Given the description of an element on the screen output the (x, y) to click on. 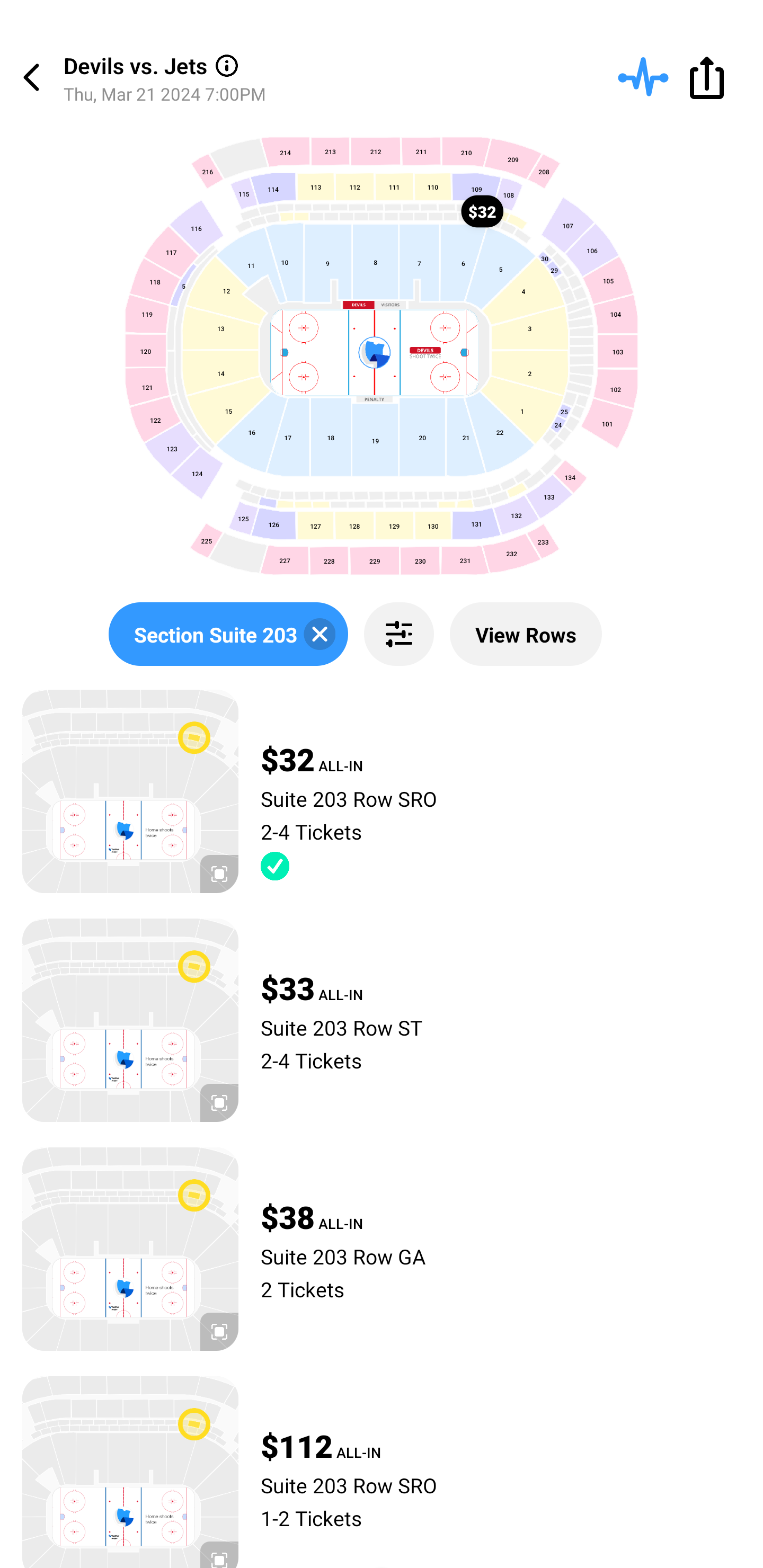
Section Suite 203 (227, 634)
View Rows (526, 634)
